Given the description of an element on the screen output the (x, y) to click on. 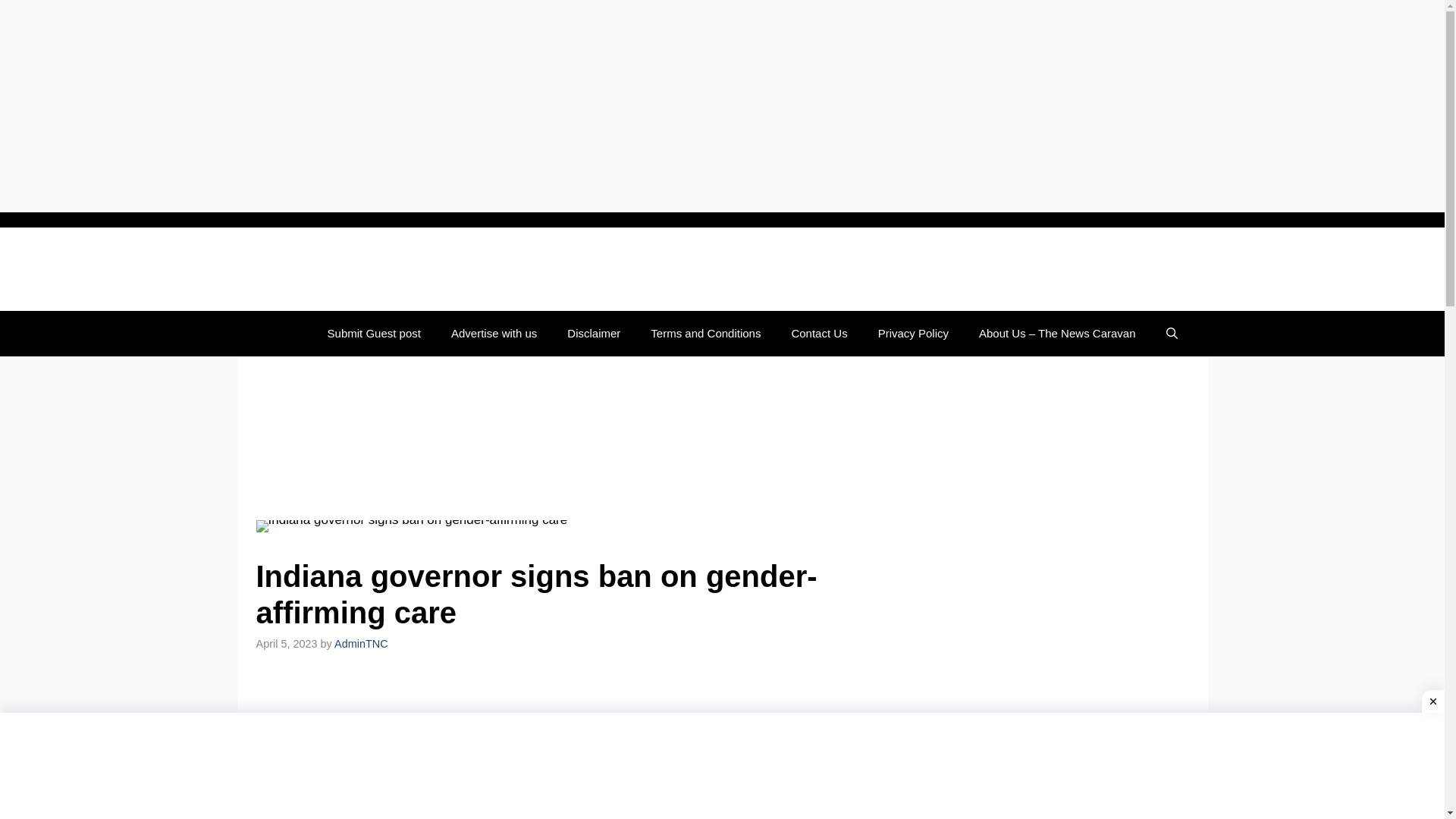
Advertise with us (493, 333)
Terms and Conditions (705, 333)
Submit Guest post (374, 333)
Contact Us (818, 333)
Privacy Policy (913, 333)
Advertisement (722, 765)
AdminTNC (361, 644)
View all posts by AdminTNC (361, 644)
Advertisement (583, 438)
Disclaimer (592, 333)
The News Caravan (350, 269)
Advertisement (583, 748)
